Given the description of an element on the screen output the (x, y) to click on. 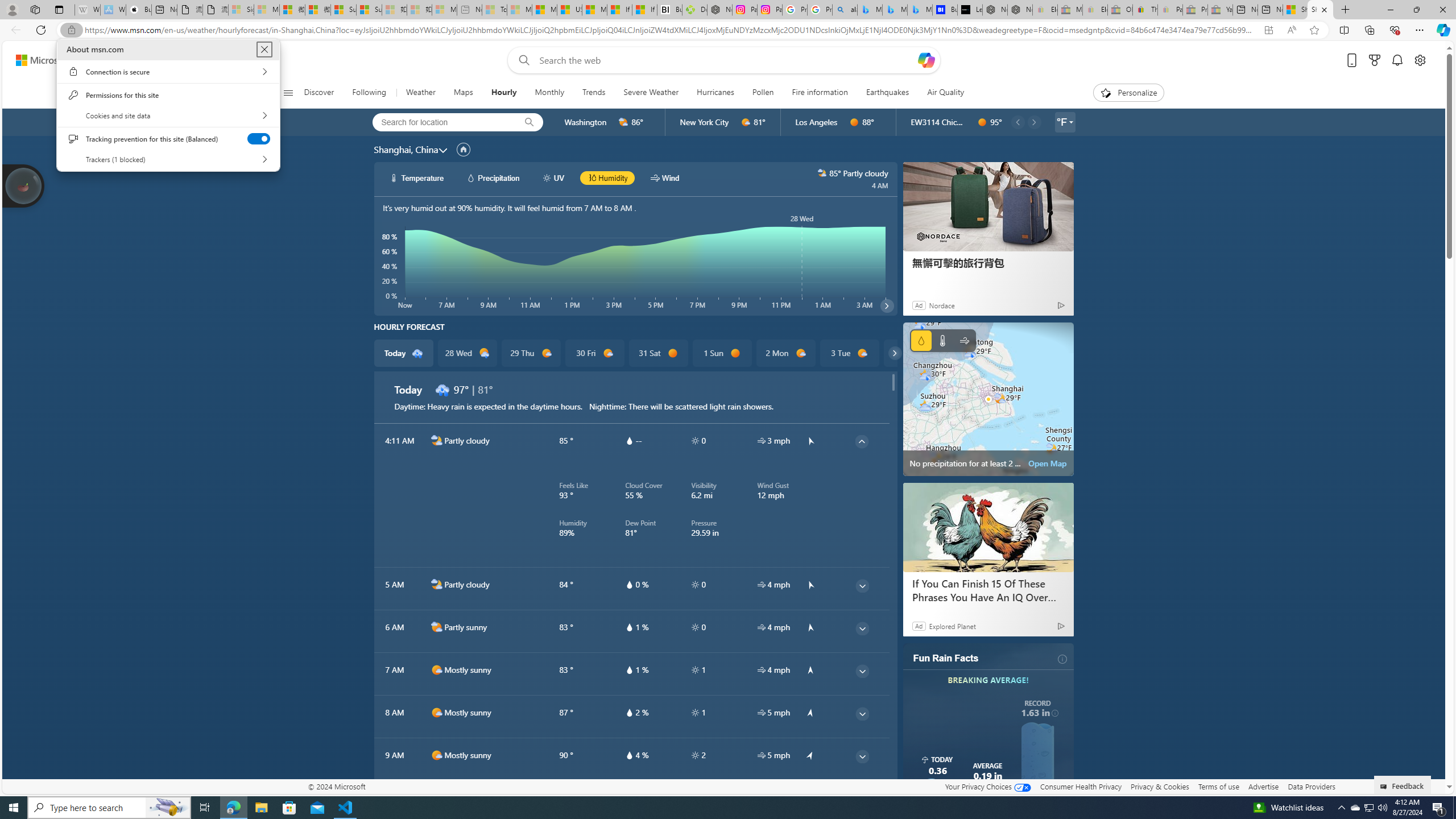
n2000 (436, 584)
Microsoft account | Account Checkup - Sleeping (443, 9)
31 Sat d0000 (658, 352)
hourlyChart/humidityBlack Humidity (606, 178)
common/carouselChevron (895, 353)
Show desktop (1454, 807)
Weather (420, 92)
File Explorer (261, 807)
